Given the description of an element on the screen output the (x, y) to click on. 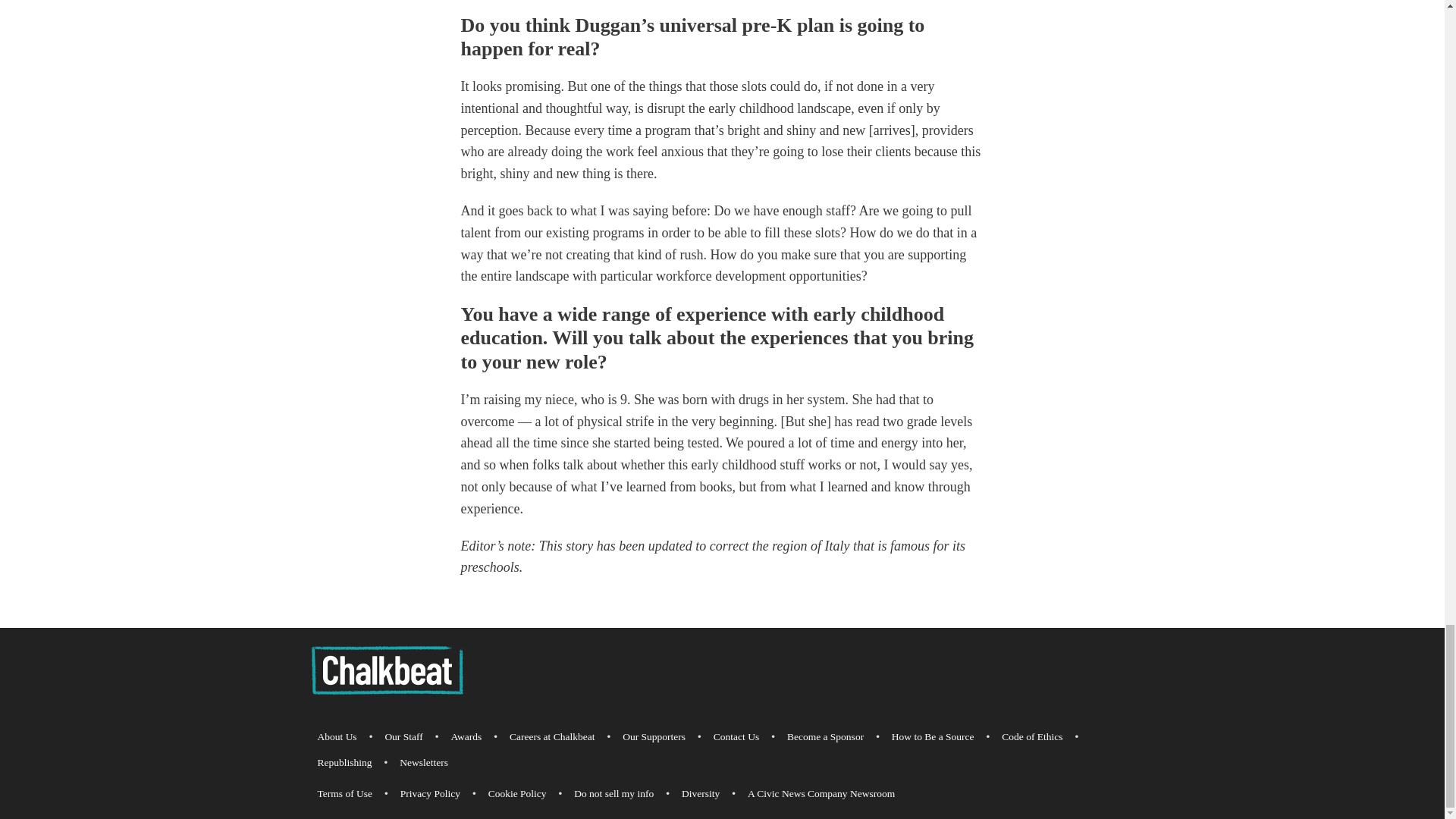
Code of Ethics (1031, 736)
Become a Sponsor (824, 736)
Do not sell my info (613, 793)
A Civic News Company Newsroom (821, 793)
Cookie Policy (517, 793)
Privacy Policy (429, 793)
Diversity (700, 793)
Our Staff (403, 736)
Newsletters (423, 762)
Contact Us (736, 736)
